Given the description of an element on the screen output the (x, y) to click on. 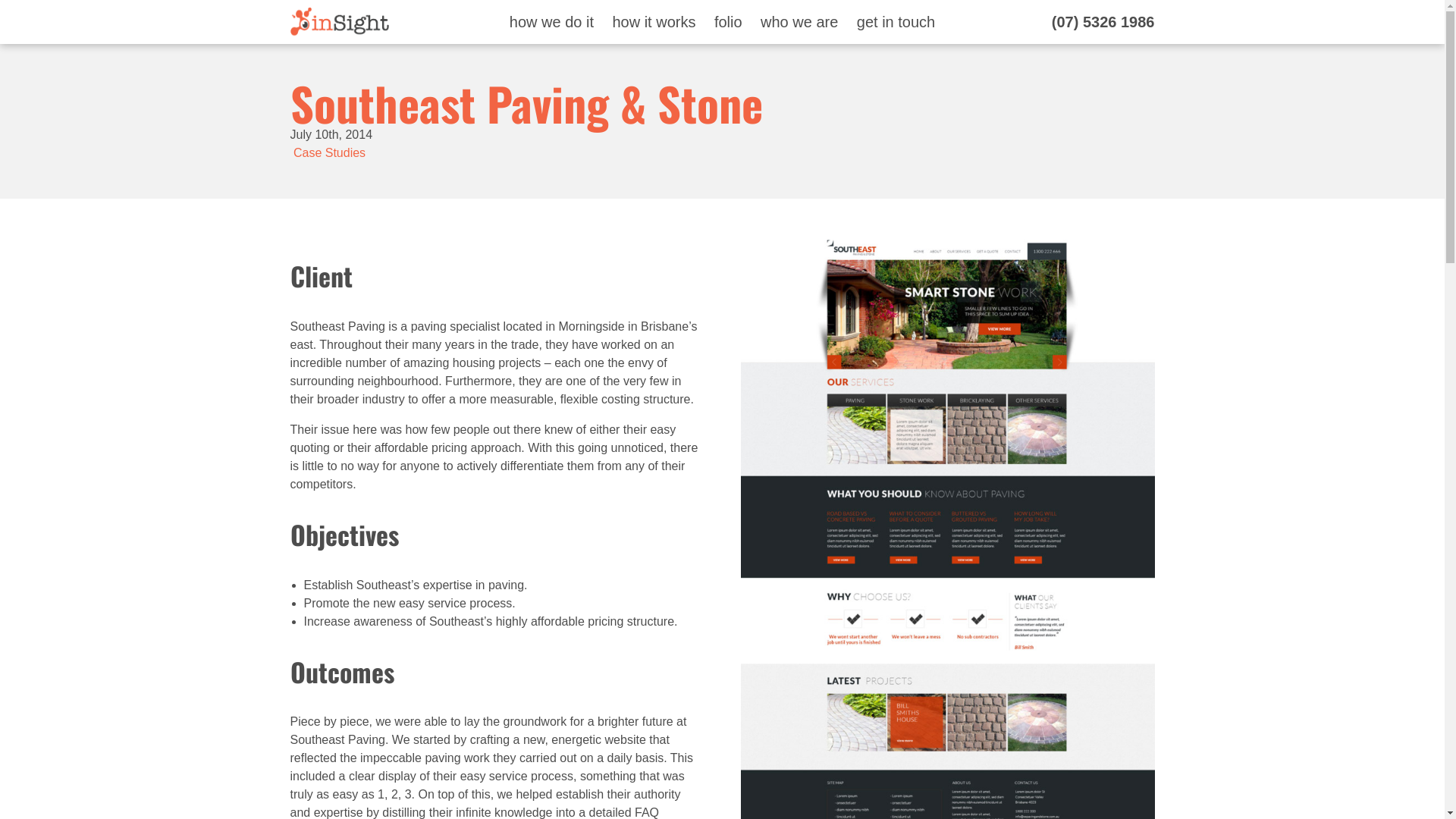
get in touch Element type: text (895, 21)
how it works Element type: text (653, 21)
(07) 5326 1986 Element type: text (1102, 21)
who we are Element type: text (799, 21)
Case Studies Element type: text (329, 153)
how we do it Element type: text (551, 21)
folio Element type: text (727, 21)
